Given the description of an element on the screen output the (x, y) to click on. 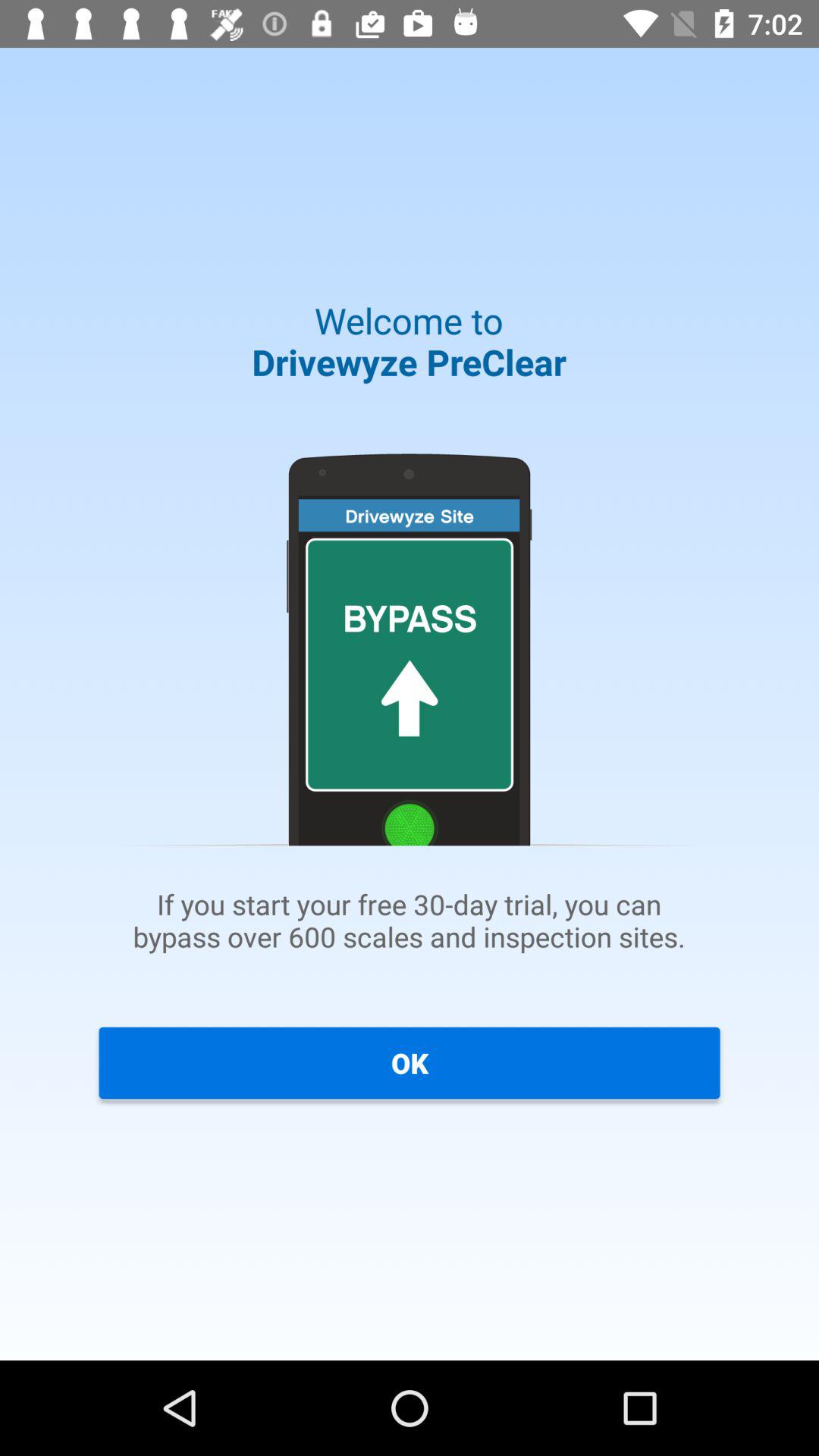
choose icon below the if you start item (409, 1062)
